Given the description of an element on the screen output the (x, y) to click on. 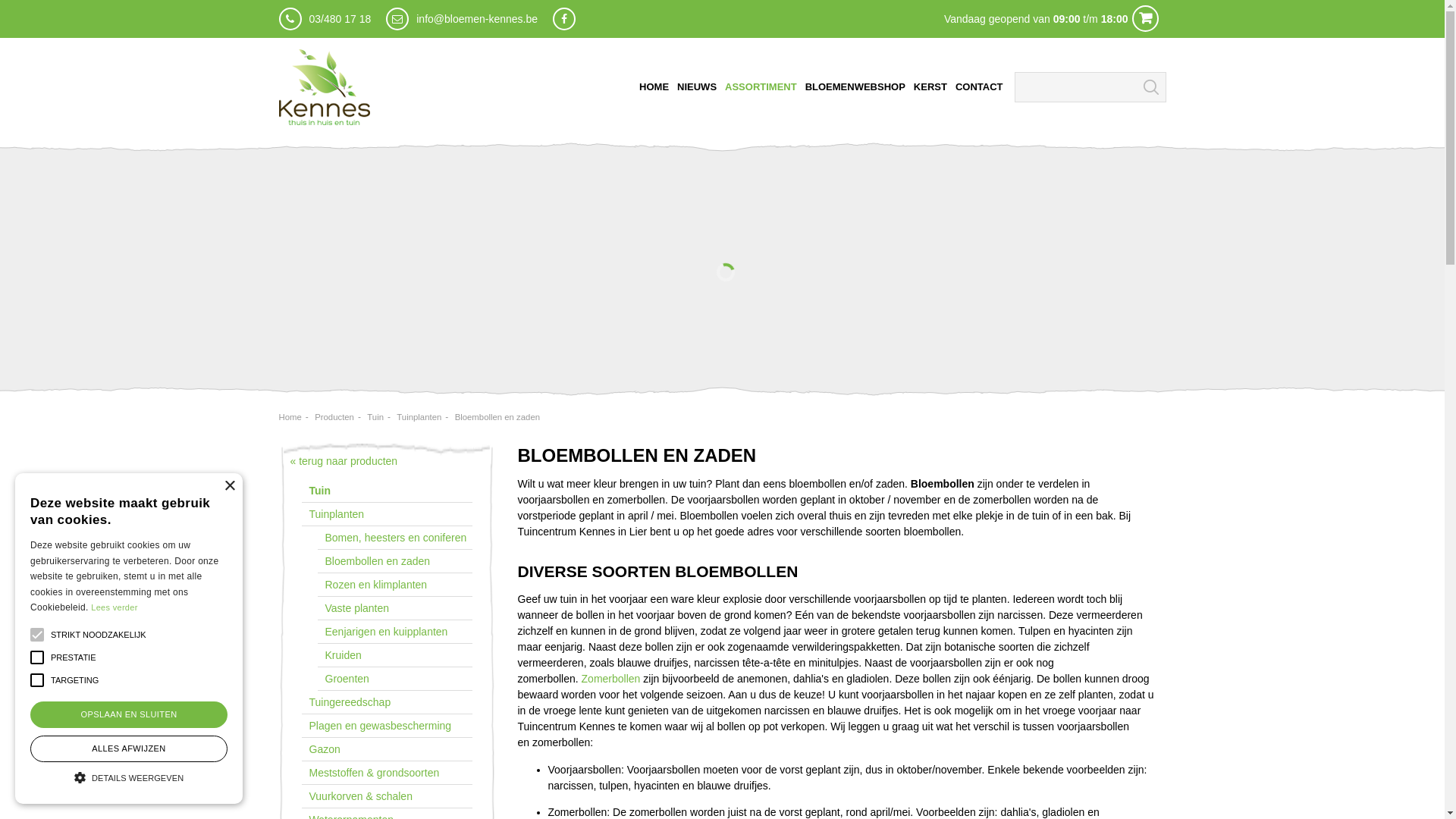
Eenjarigen en kuipplanten Element type: text (393, 631)
Tuin Element type: text (375, 417)
Rozen en klimplanten Element type: text (393, 584)
Tuincentrum Kennes in Lier Element type: hover (324, 86)
Vuurkorven & schalen Element type: text (386, 796)
Lees verder Element type: text (114, 606)
Zoeken Element type: text (1150, 86)
NIEUWS Element type: text (696, 86)
Gazon Element type: text (386, 749)
CART Element type: text (1144, 18)
KERST Element type: text (930, 86)
Tuinplanten Element type: text (386, 514)
Producten Element type: text (334, 417)
Tuin Element type: text (386, 490)
fb Element type: text (563, 18)
CONTACT Element type: text (979, 86)
Tuingereedschap Element type: text (386, 702)
Vaste planten Element type: text (393, 608)
Zomerbollen Element type: text (610, 678)
Tuinplanten Element type: text (418, 417)
Bloembollen en zaden Element type: text (393, 561)
Groenten Element type: text (393, 678)
Bomen, heesters en coniferen Element type: text (393, 537)
HOME Element type: text (653, 86)
03/480 17 18 Element type: text (340, 18)
BLOEMENWEBSHOP Element type: text (855, 86)
Plagen en gewasbescherming Element type: text (386, 725)
Kruiden Element type: text (393, 655)
Home Element type: text (290, 417)
CART Element type: text (722, 18)
ASSORTIMENT Element type: text (760, 86)
Meststoffen & grondsoorten Element type: text (386, 772)
info@bloemen-kennes.be Element type: text (476, 18)
